Given the description of an element on the screen output the (x, y) to click on. 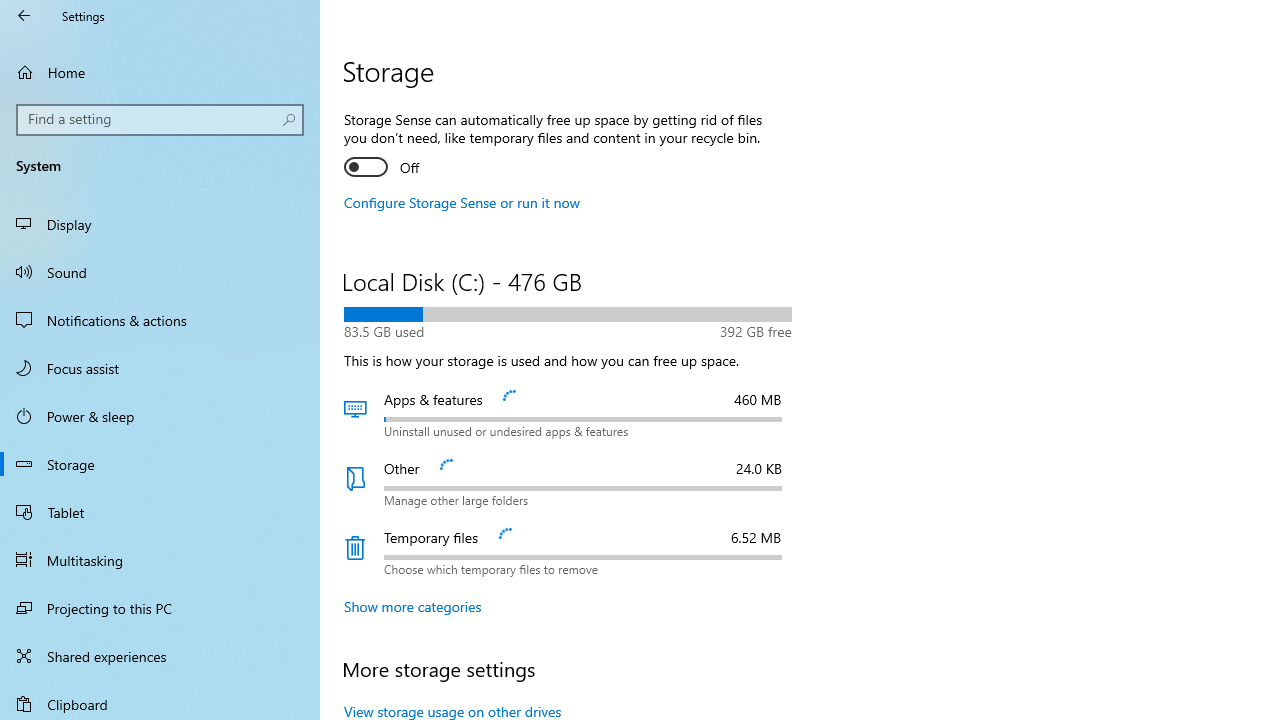
Tablet (160, 511)
Projecting to this PC (160, 607)
Configure Storage Sense or run it now (461, 201)
Home (160, 71)
Apps & features (568, 414)
Storage (160, 463)
